Given the description of an element on the screen output the (x, y) to click on. 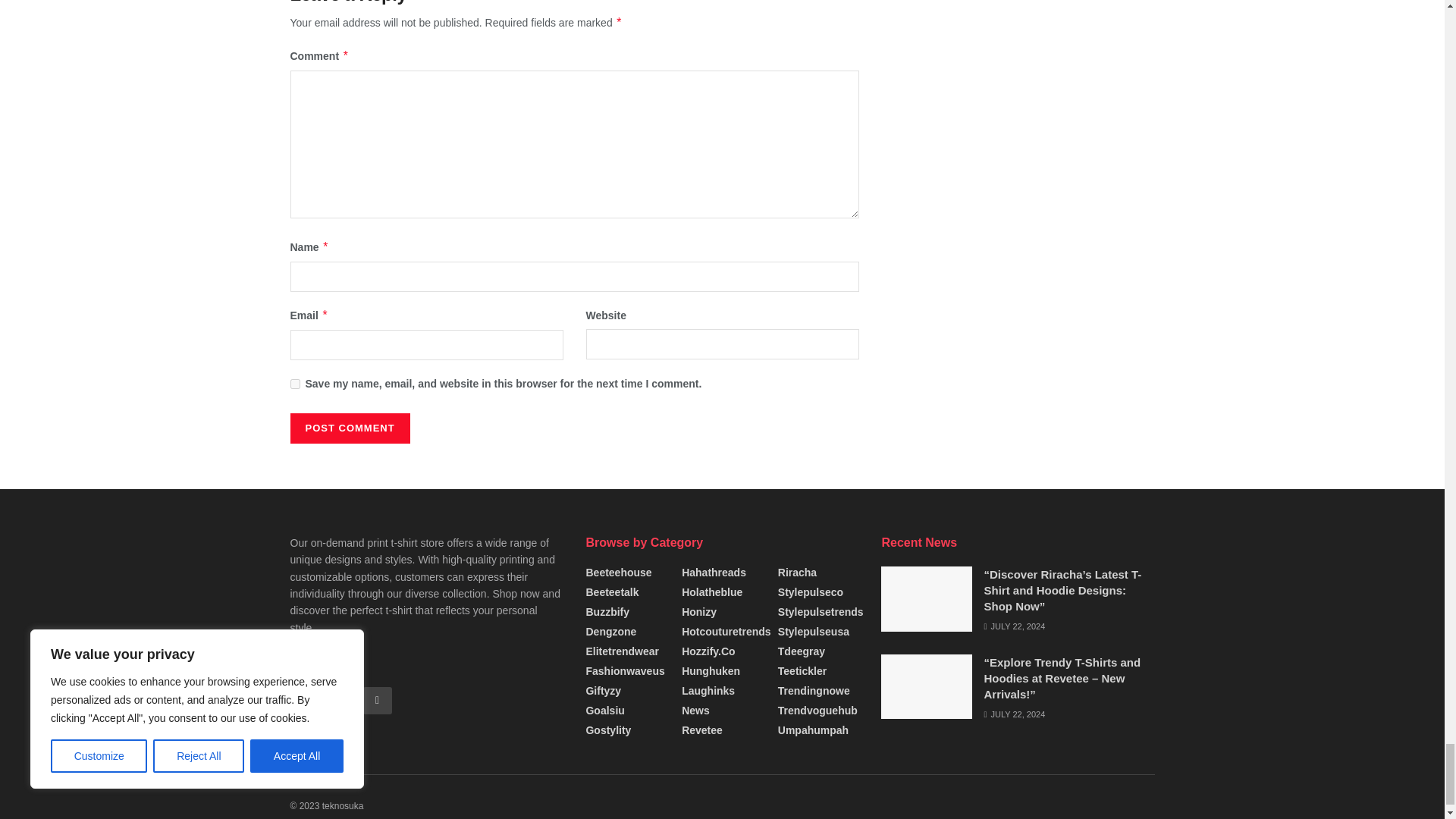
Post Comment (349, 428)
yes (294, 384)
